Given the description of an element on the screen output the (x, y) to click on. 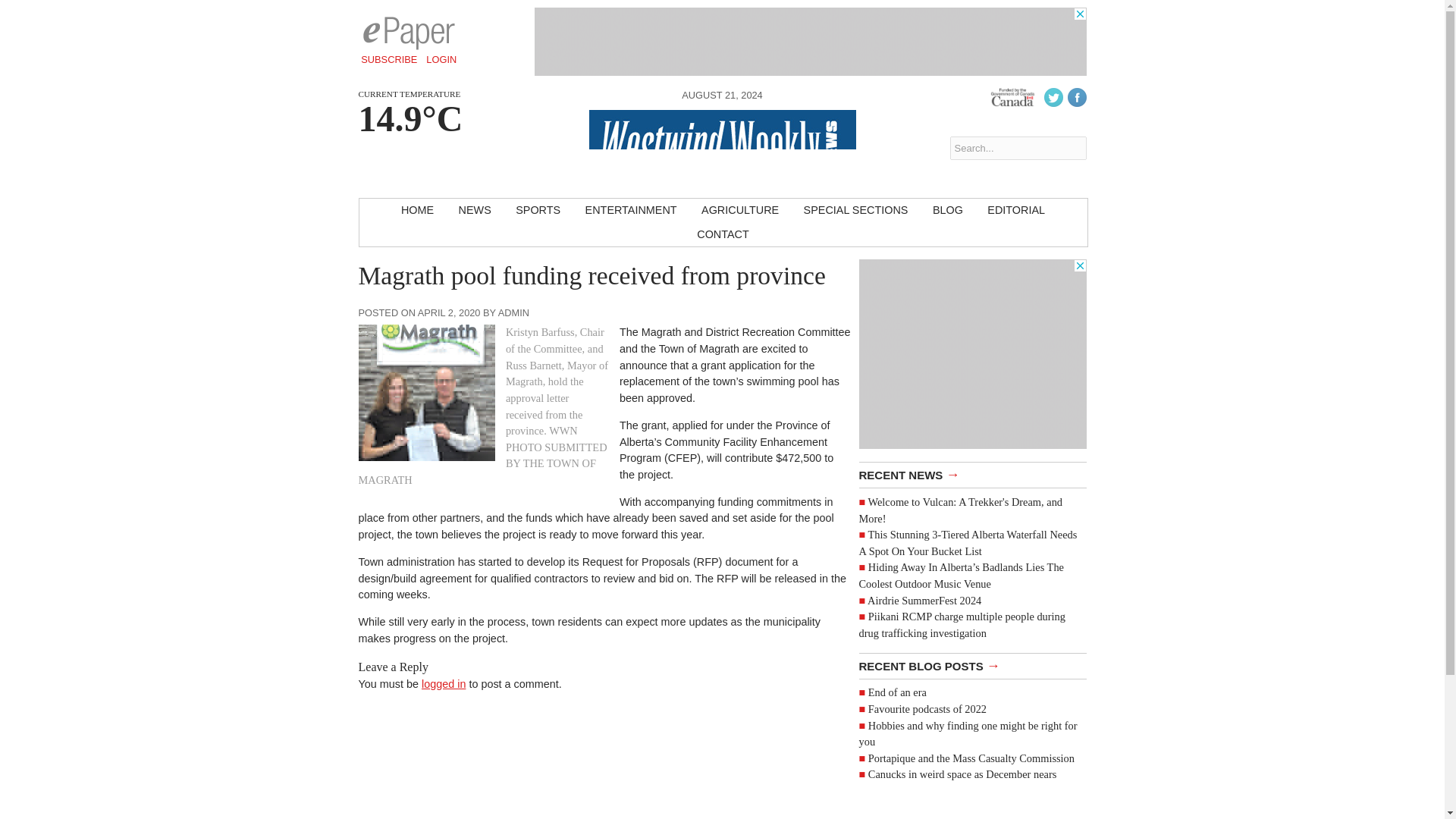
SPECIAL SECTIONS (855, 210)
SPORTS (537, 210)
HOME (417, 210)
CONTACT (721, 234)
Favourite podcasts of 2022 (927, 708)
AGRICULTURE (739, 210)
BLOG (947, 210)
Hobbies and why finding one might be right for you (968, 733)
Welcome to Vulcan: A Trekker's Dream, and More! (960, 510)
